Given the description of an element on the screen output the (x, y) to click on. 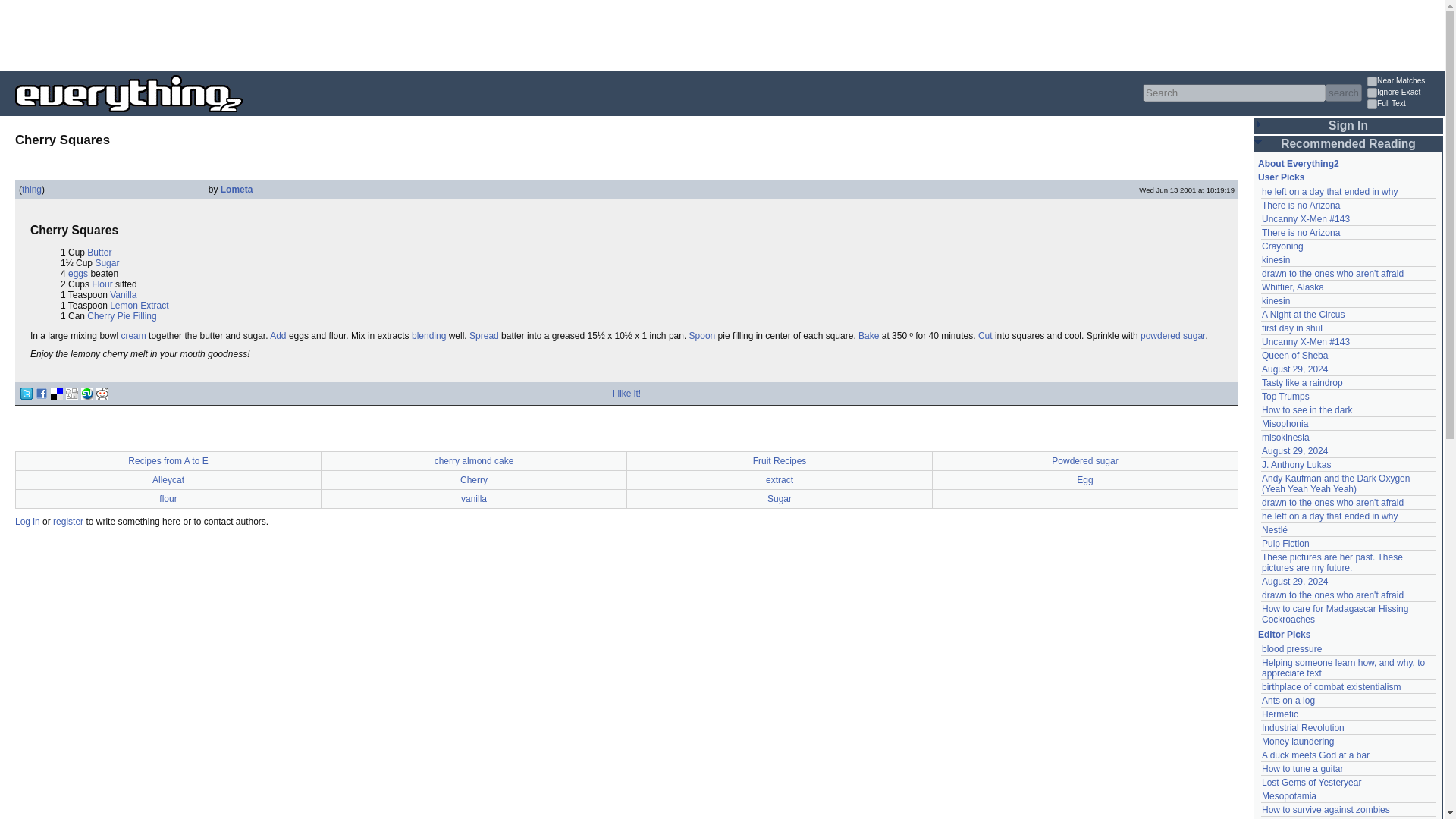
Spread (483, 335)
Alleycat (168, 480)
Sugar (106, 262)
I like it! (626, 393)
Lometa (237, 189)
Cherry (473, 480)
Butter (99, 252)
Cherry Pie Filling (121, 316)
Fruit Recipes (779, 460)
Vanilla (123, 294)
